Given the description of an element on the screen output the (x, y) to click on. 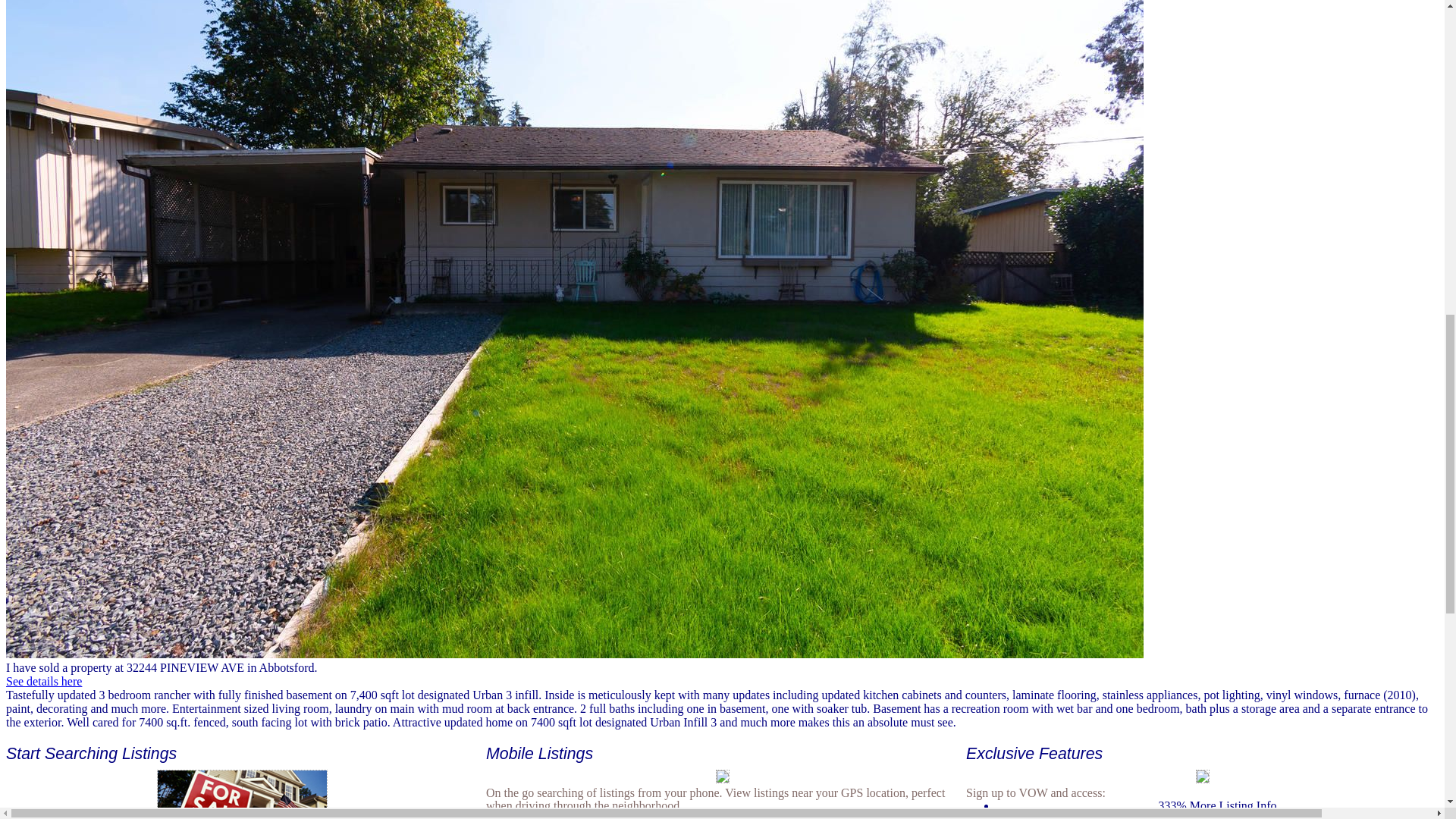
See details here (43, 680)
